Given the description of an element on the screen output the (x, y) to click on. 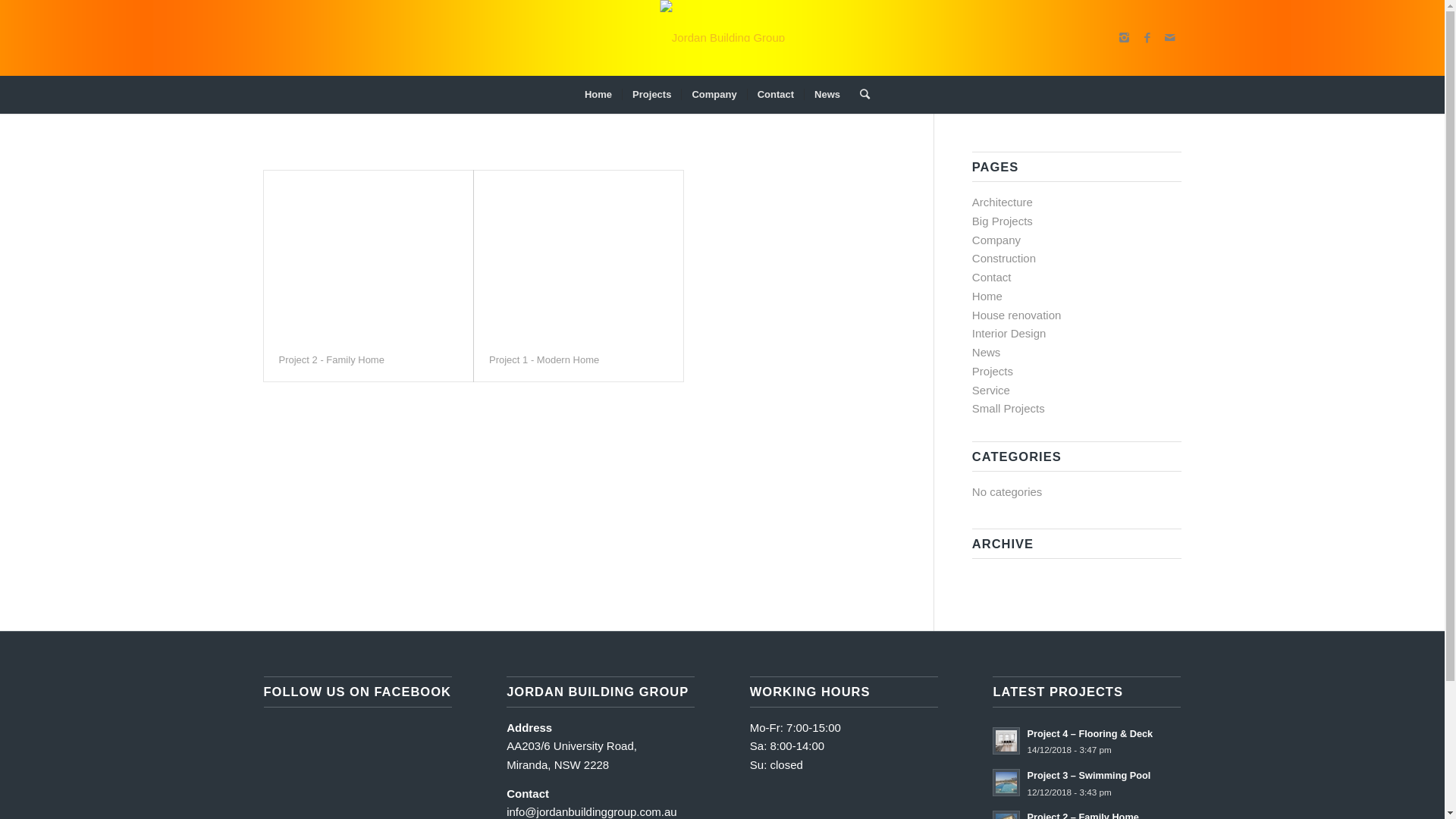
Small Projects Element type: text (1008, 407)
Contact Element type: text (774, 94)
Instagram Element type: hover (1124, 37)
Home Element type: text (597, 94)
Service Element type: text (991, 389)
News Element type: text (826, 94)
Interior Design Element type: text (1009, 332)
Home Element type: text (987, 295)
Projects Element type: text (650, 94)
Contact Element type: text (991, 276)
Mail Element type: hover (1169, 37)
House renovation Element type: text (1016, 314)
News Element type: text (986, 351)
Company Element type: text (996, 239)
Company Element type: text (713, 94)
Project 2 - Family Home Element type: text (331, 359)
Architecture Element type: text (1002, 201)
Project 1 - Modern Home Element type: text (544, 359)
Construction Element type: text (1003, 257)
Facebook Element type: hover (1146, 37)
Projects Element type: text (992, 370)
Big Projects Element type: text (1002, 220)
